Given the description of an element on the screen output the (x, y) to click on. 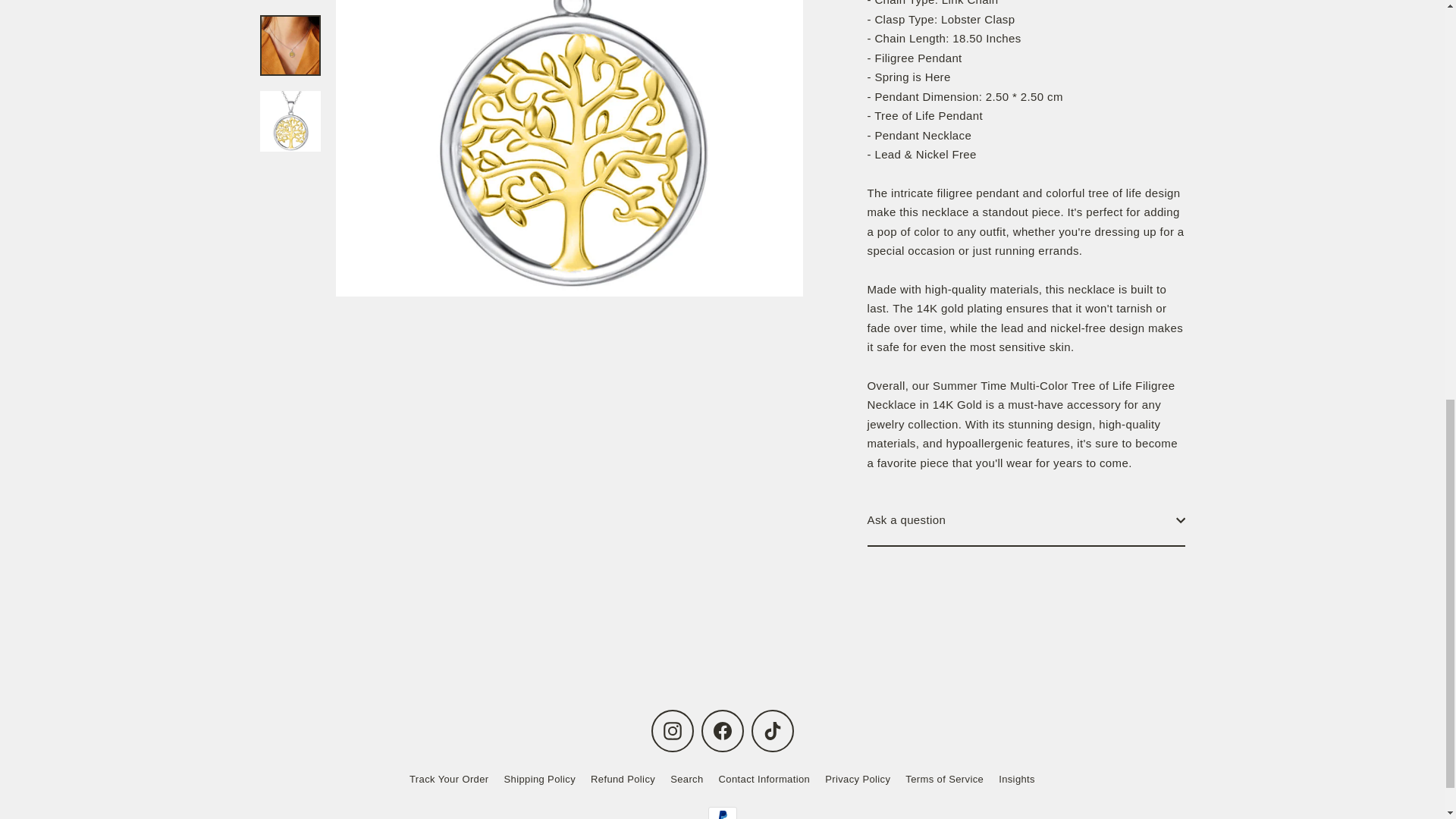
BijouHer.com on TikTok (772, 731)
PayPal (721, 812)
BijouHer.com on Facebook (721, 731)
BijouHer.com on Instagram (671, 731)
